Given the description of an element on the screen output the (x, y) to click on. 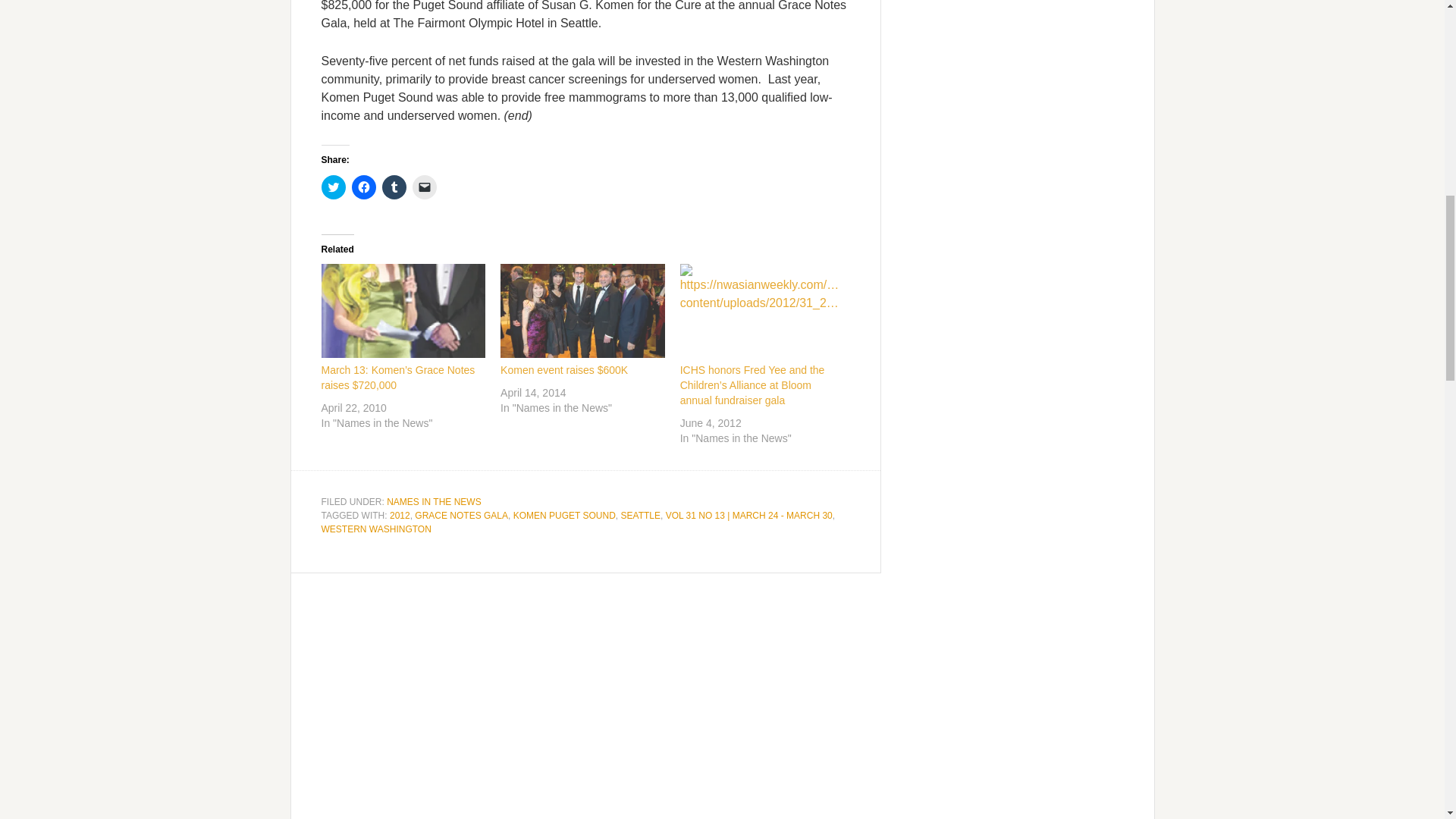
Click to share on Tumblr (393, 187)
Click to email a link to a friend (424, 187)
Click to share on Facebook (363, 187)
Click to share on Twitter (333, 187)
